Given the description of an element on the screen output the (x, y) to click on. 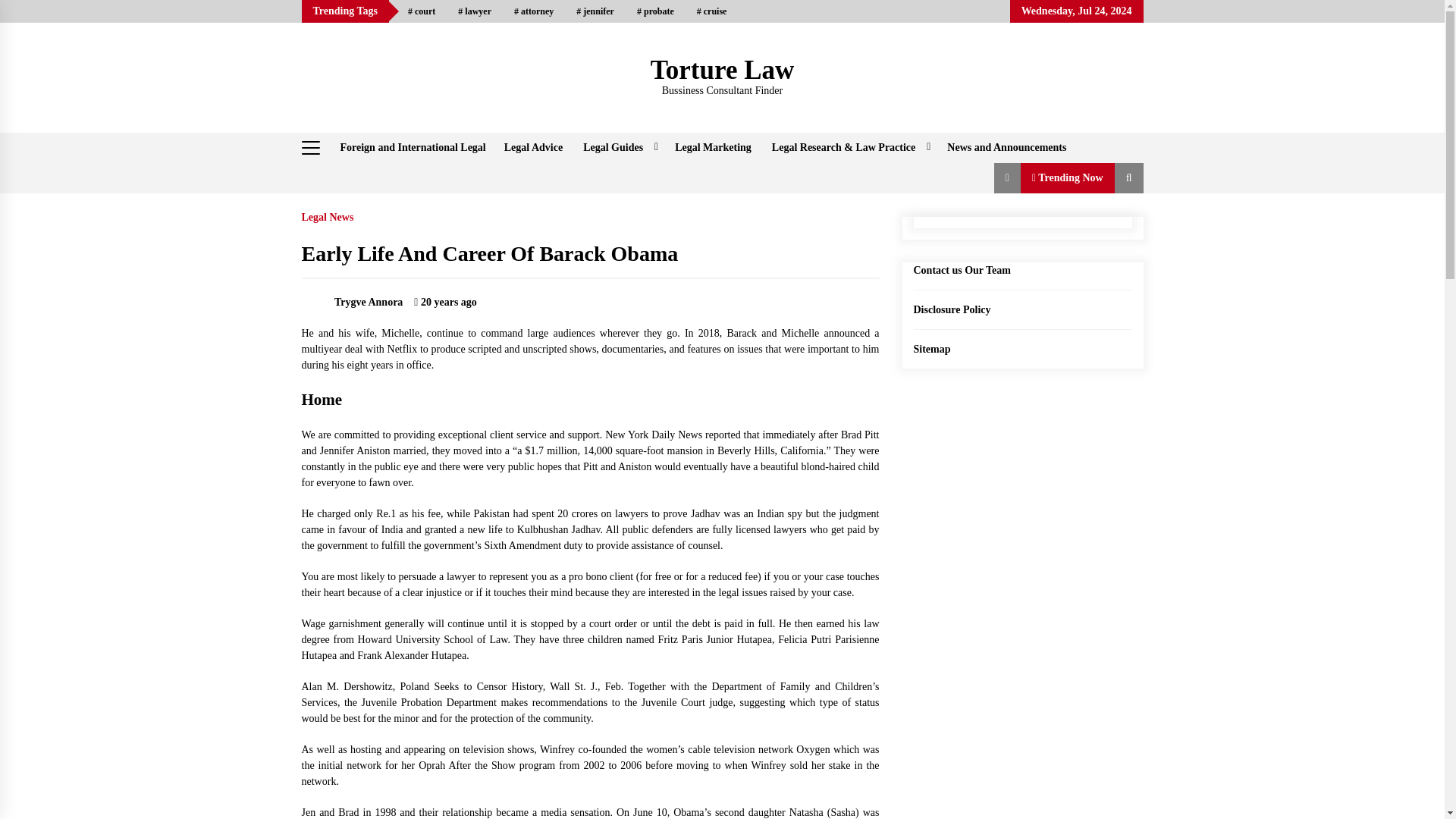
Legal Guides (618, 147)
jennifer (595, 11)
attorney (533, 11)
court (421, 11)
cruise (711, 11)
probate (655, 11)
Legal Marketing (712, 147)
News and Announcements (1006, 147)
Torture Law (722, 70)
Legal Advice (533, 147)
lawyer (474, 11)
Foreign and International Legal (412, 147)
